Given the description of an element on the screen output the (x, y) to click on. 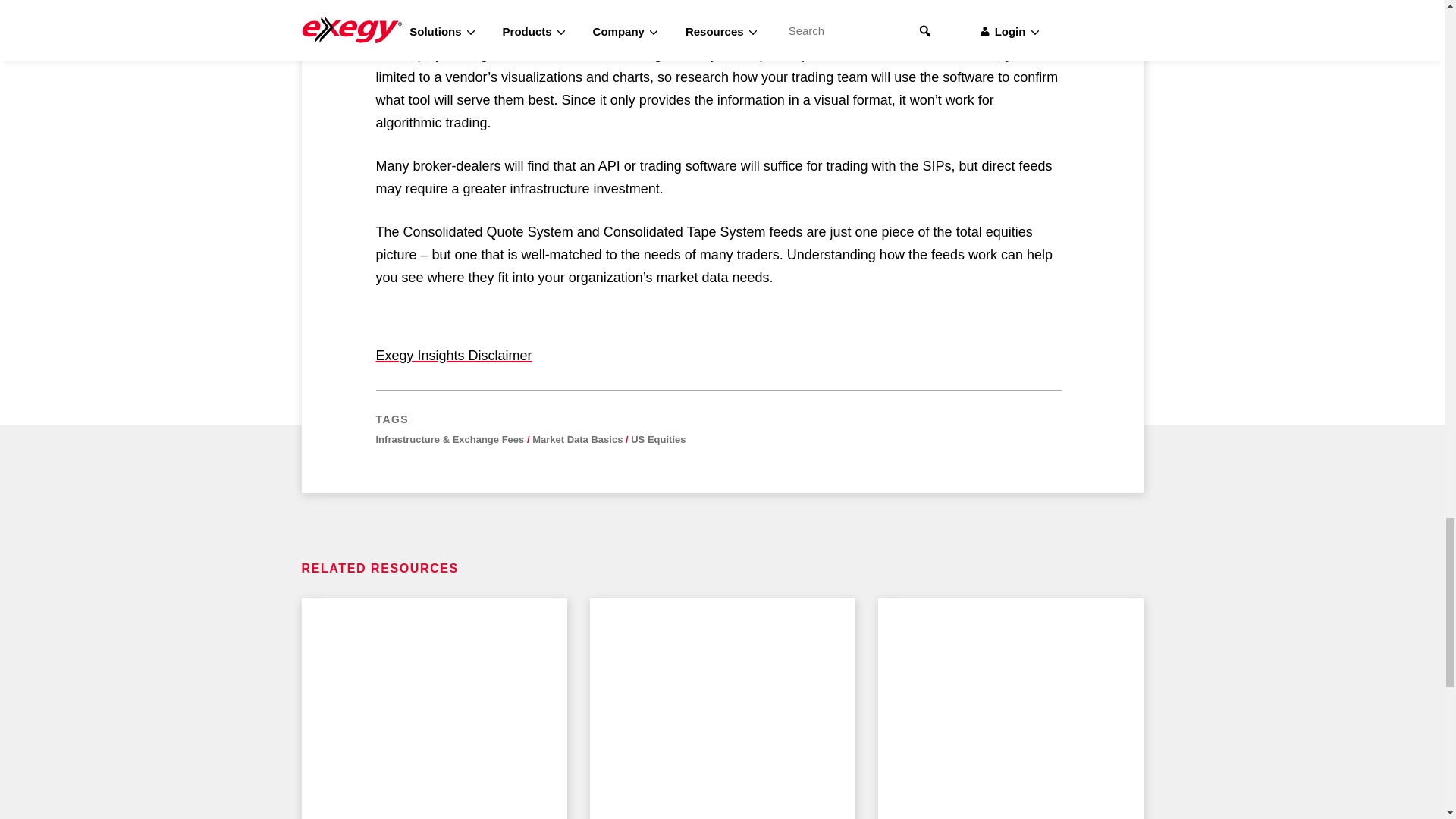
Building Success, Buying Excellence (722, 708)
